Given the description of an element on the screen output the (x, y) to click on. 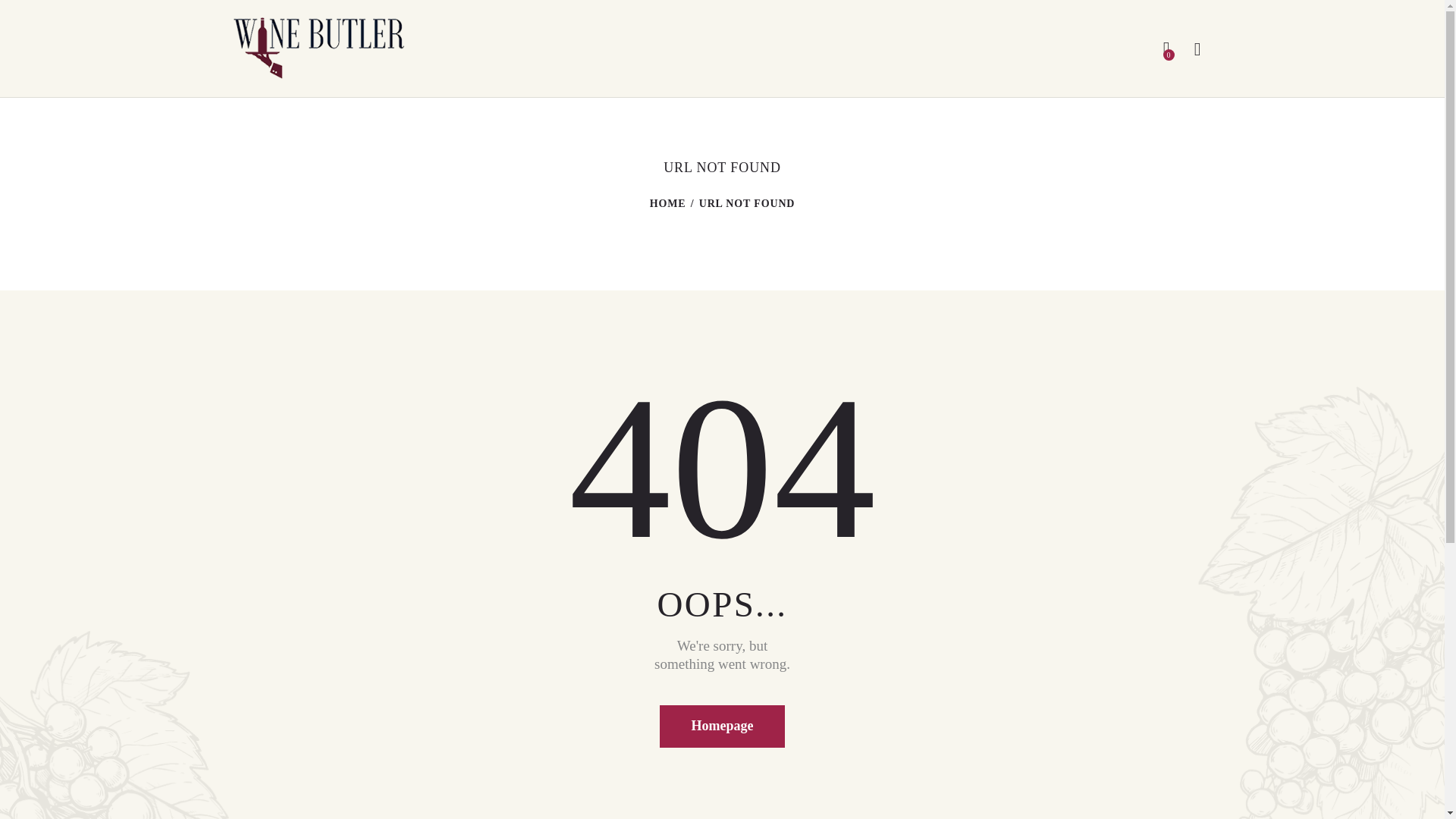
HOME (667, 203)
Homepage (722, 726)
